Given the description of an element on the screen output the (x, y) to click on. 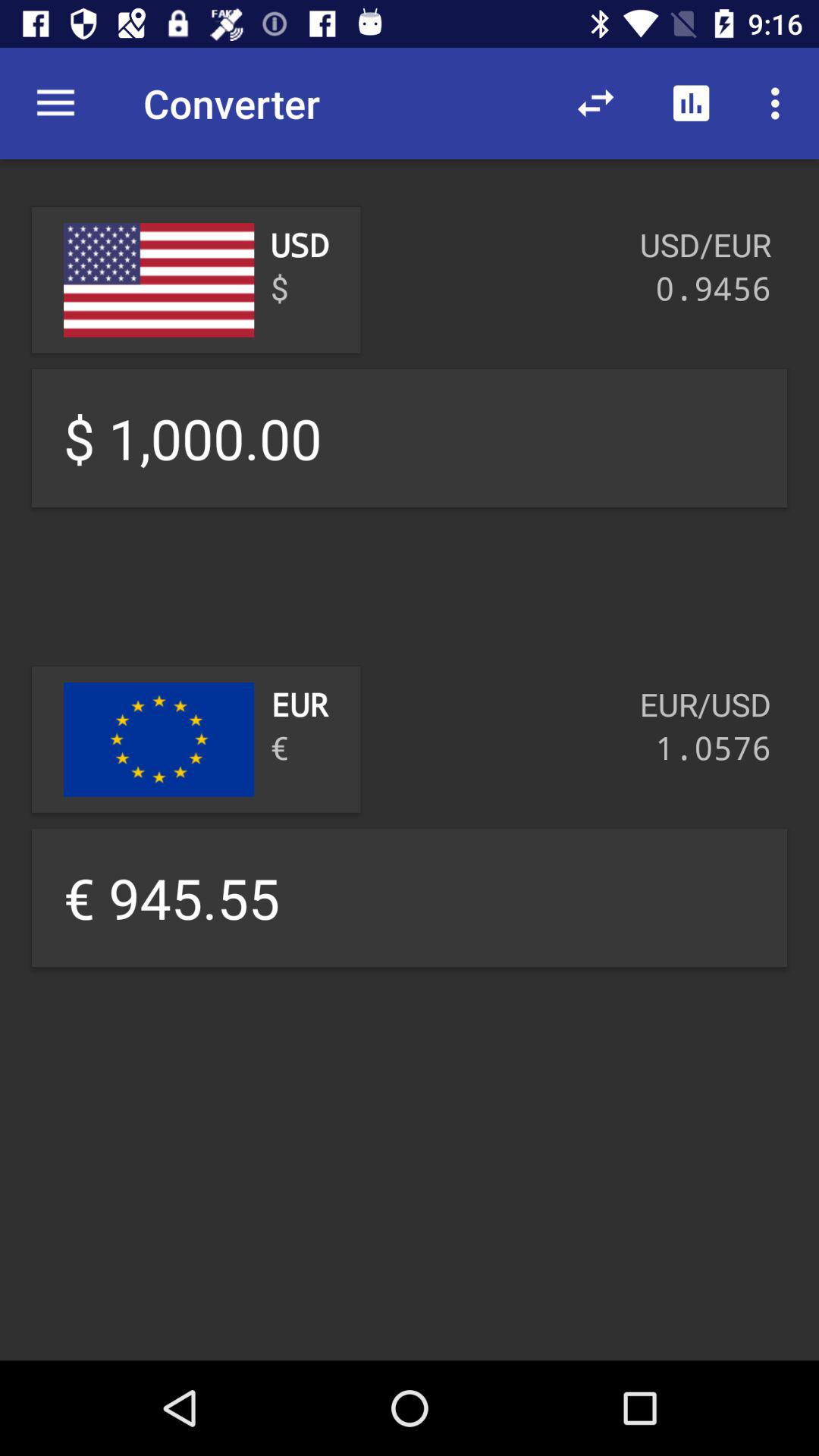
click on the button left to more button at top right corner (691, 103)
click on more settings (779, 103)
click on the text 100000 (409, 437)
click on the icon next to converter (595, 103)
select the 2nd image on the web page (158, 739)
click on icon on the left side of more settings (691, 103)
